Given the description of an element on the screen output the (x, y) to click on. 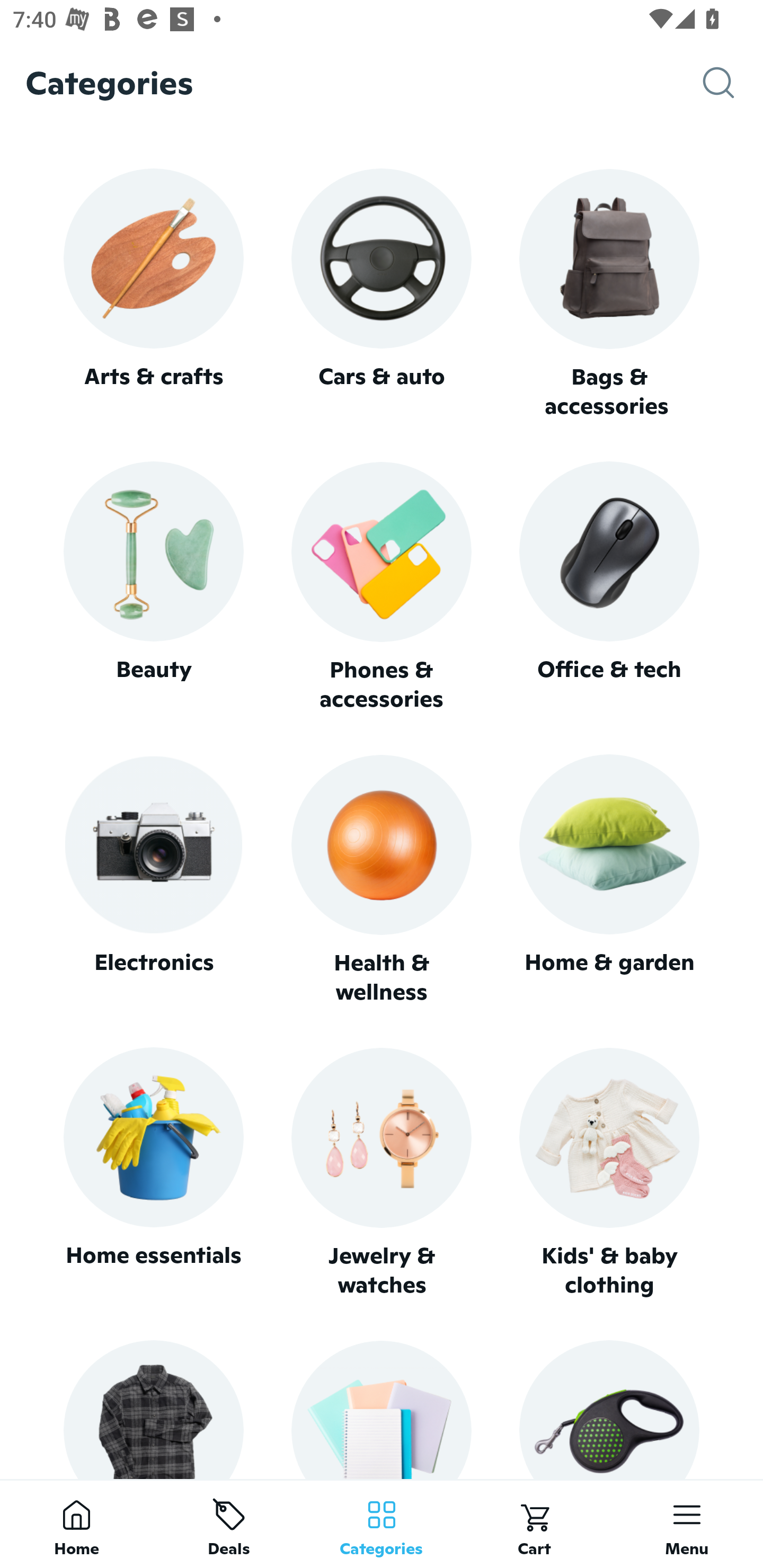
Search (732, 82)
Arts & crafts (153, 293)
Cars & auto (381, 293)
Bags & accessories  (609, 294)
Beauty (153, 586)
Office & tech (609, 586)
Phones & accessories (381, 587)
Electronics (153, 880)
Home & garden (609, 880)
Health & wellness (381, 880)
Home essentials (153, 1172)
Jewelry & watches (381, 1172)
Kids' & baby clothing (609, 1172)
Men's clothing (153, 1409)
Pet supplies (609, 1409)
Office & school supplies (381, 1409)
Home (76, 1523)
Deals (228, 1523)
Categories (381, 1523)
Cart (533, 1523)
Menu (686, 1523)
